Given the description of an element on the screen output the (x, y) to click on. 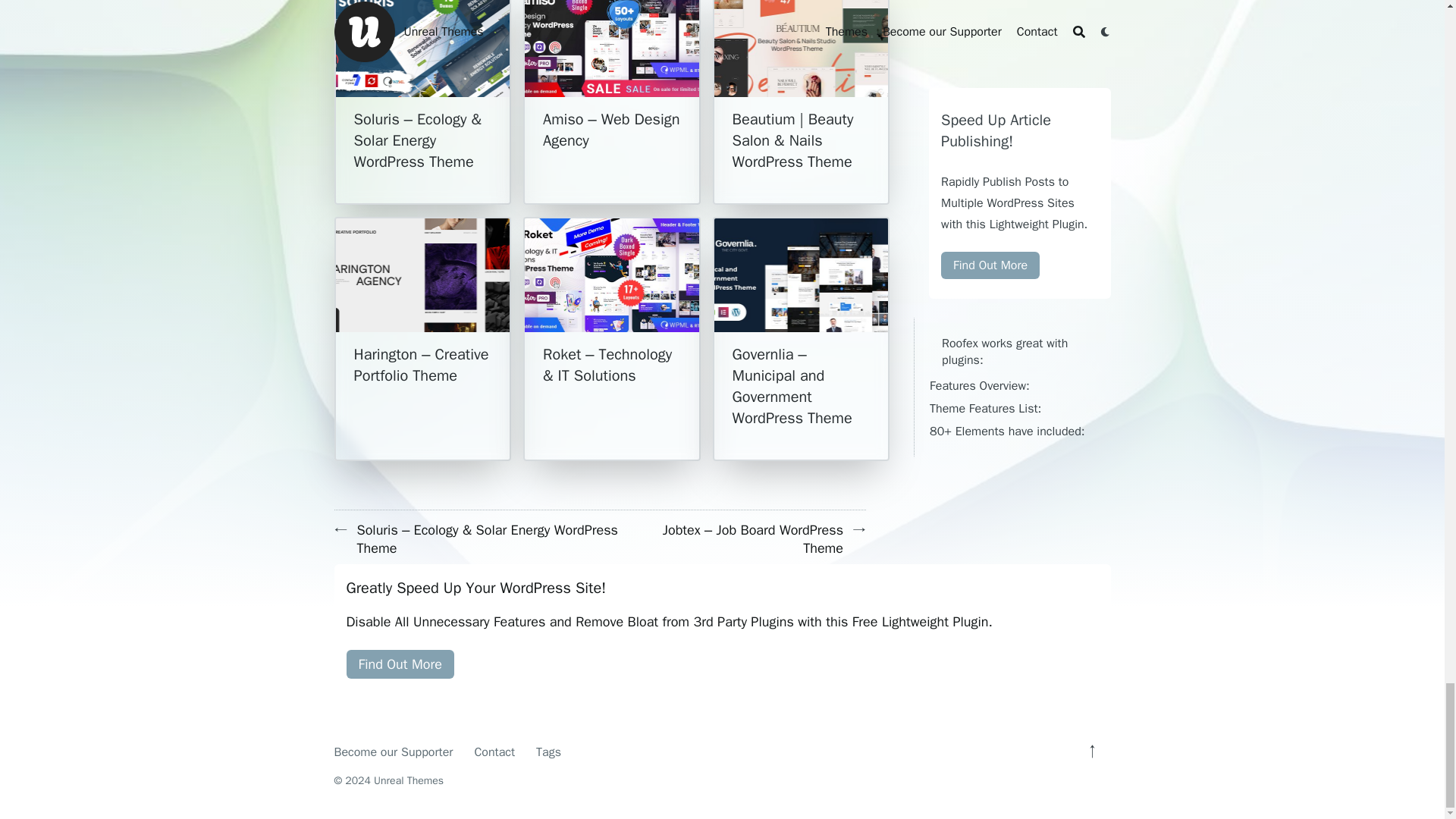
Contact (494, 751)
Become our Supporter (392, 751)
Tags (547, 751)
